Given the description of an element on the screen output the (x, y) to click on. 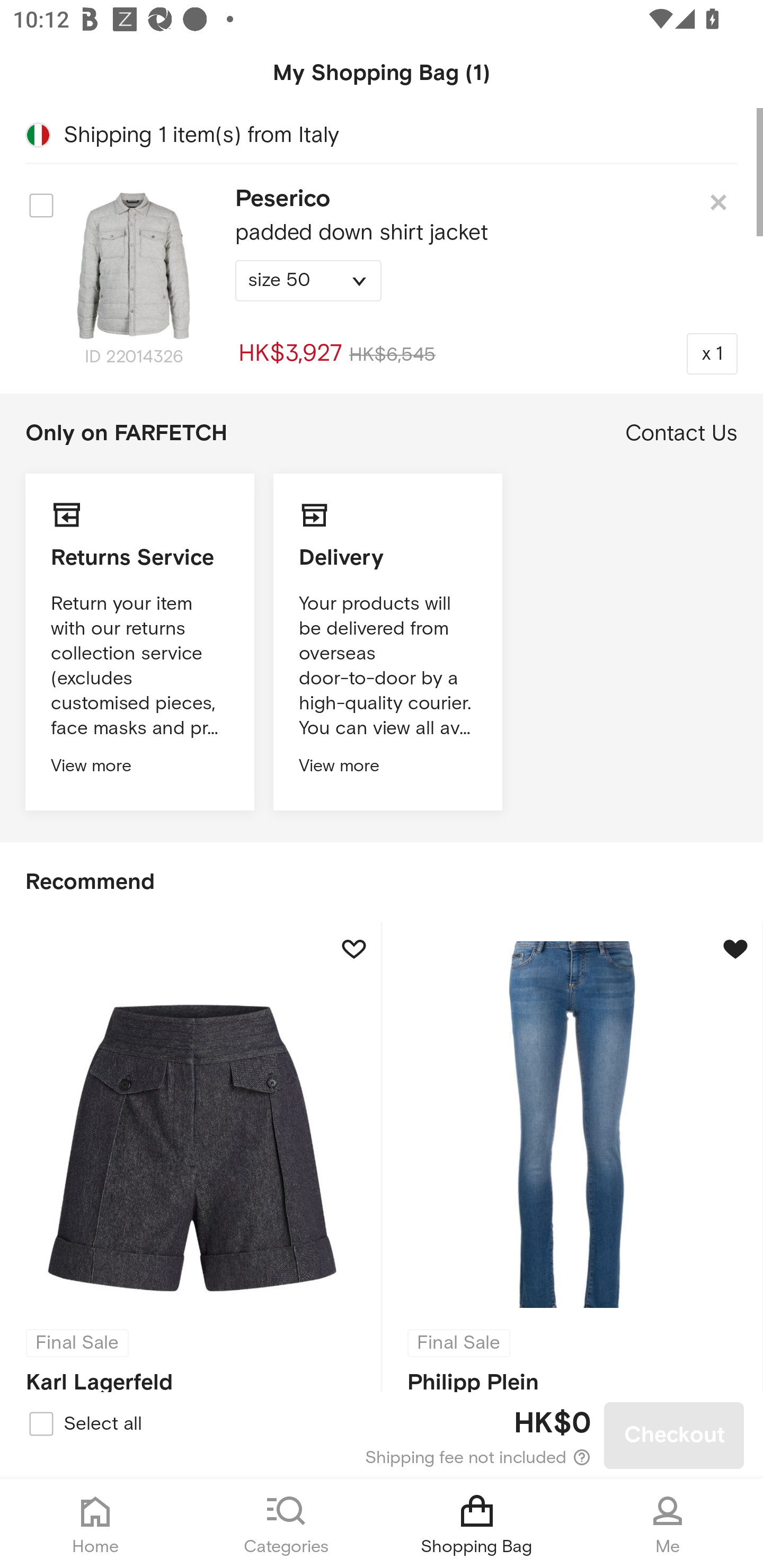
size 50 (308, 280)
x 1 (711, 353)
Contact Us (680, 433)
HK$0 Shipping fee not included (382, 1435)
Checkout (673, 1435)
Home (95, 1523)
Categories (285, 1523)
Me (667, 1523)
